Given the description of an element on the screen output the (x, y) to click on. 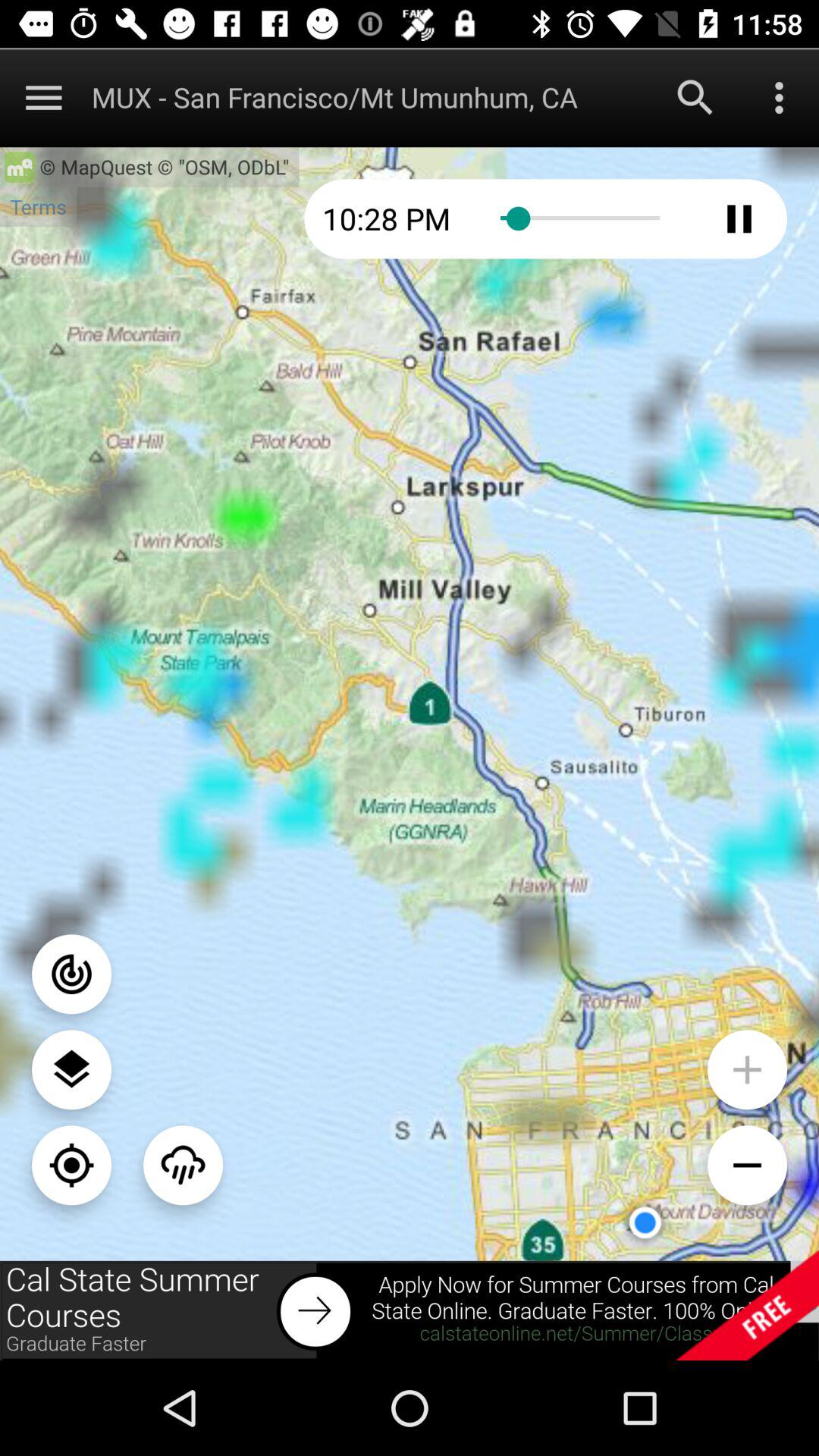
current location (71, 1165)
